Given the description of an element on the screen output the (x, y) to click on. 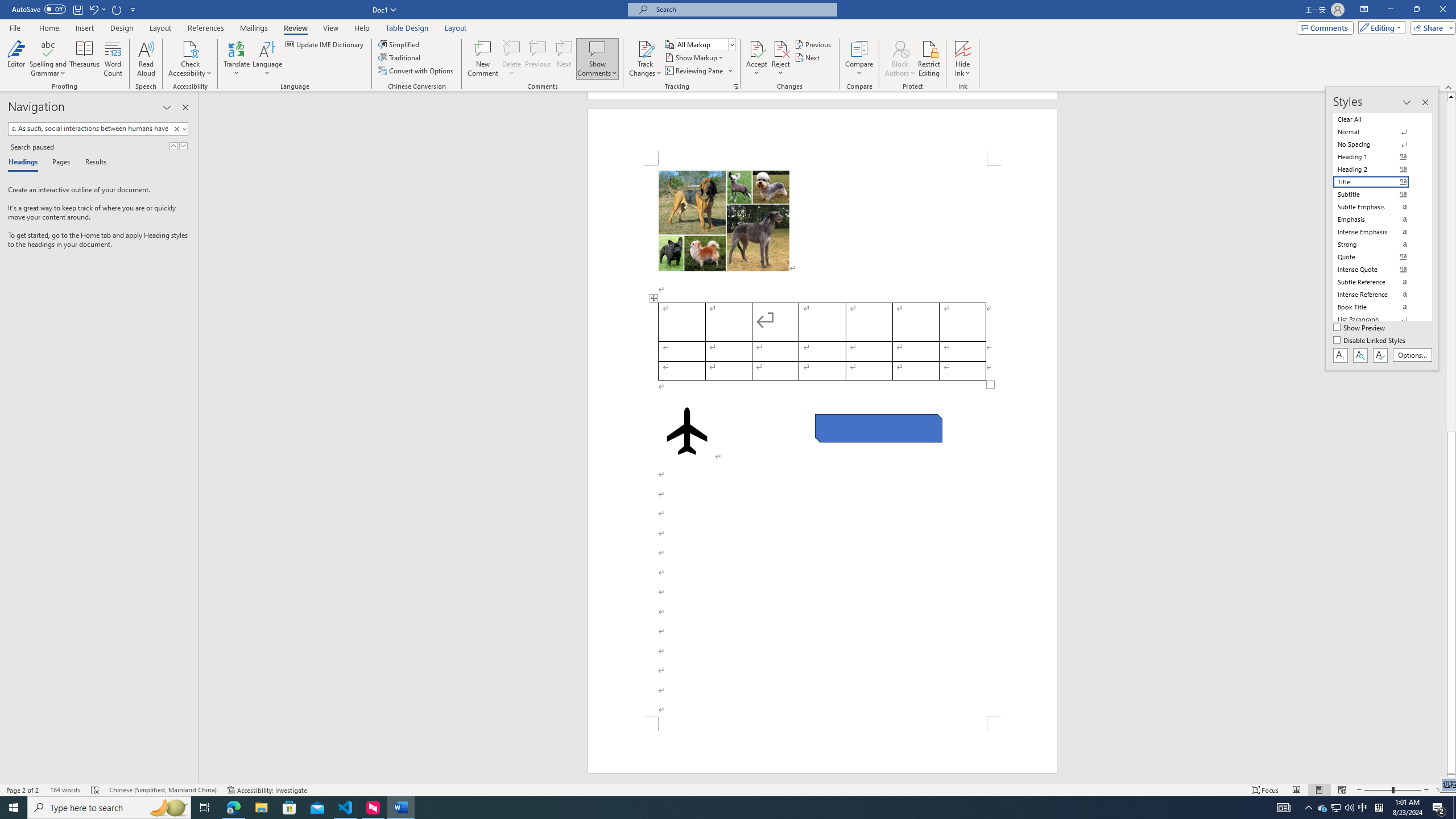
Table Design (407, 28)
Block Authors (900, 58)
Airplane with solid fill (686, 430)
Repeat Style (117, 9)
Minimize (1390, 9)
Intense Emphasis (1377, 232)
Page 2 content (822, 440)
Next (808, 56)
Undo Style (92, 9)
Strong (1377, 244)
Accessibility Checker Accessibility: Investigate (266, 790)
Reject (780, 58)
Thesaurus... (84, 58)
Update IME Dictionary... (324, 44)
More Options (962, 68)
